Given the description of an element on the screen output the (x, y) to click on. 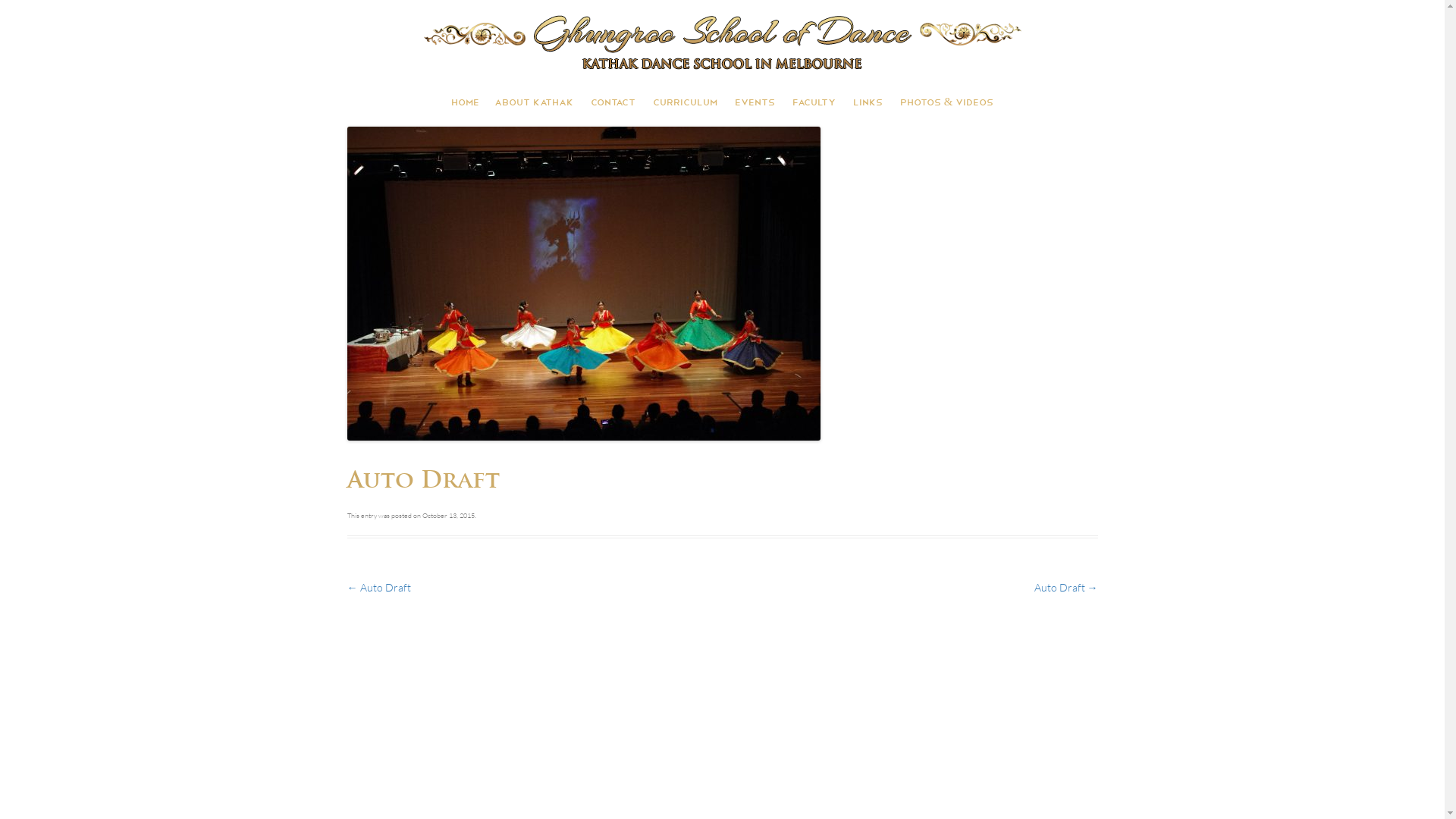
PHOTOS & VIDEOS Element type: text (946, 101)
Skip to content Element type: text (721, 77)
Ghungroo School of Dance Element type: hover (721, 42)
EVENTS Element type: text (754, 101)
LINKS Element type: text (867, 101)
FACULTY Element type: text (813, 101)
Proudly powered by WordPress Element type: text (431, 656)
October 13, 2015 Element type: text (447, 514)
ABOUT KATHAK Element type: text (533, 101)
CURRICULUM Element type: text (684, 101)
CONTACT Element type: text (613, 101)
HOME Element type: text (464, 101)
